Given the description of an element on the screen output the (x, y) to click on. 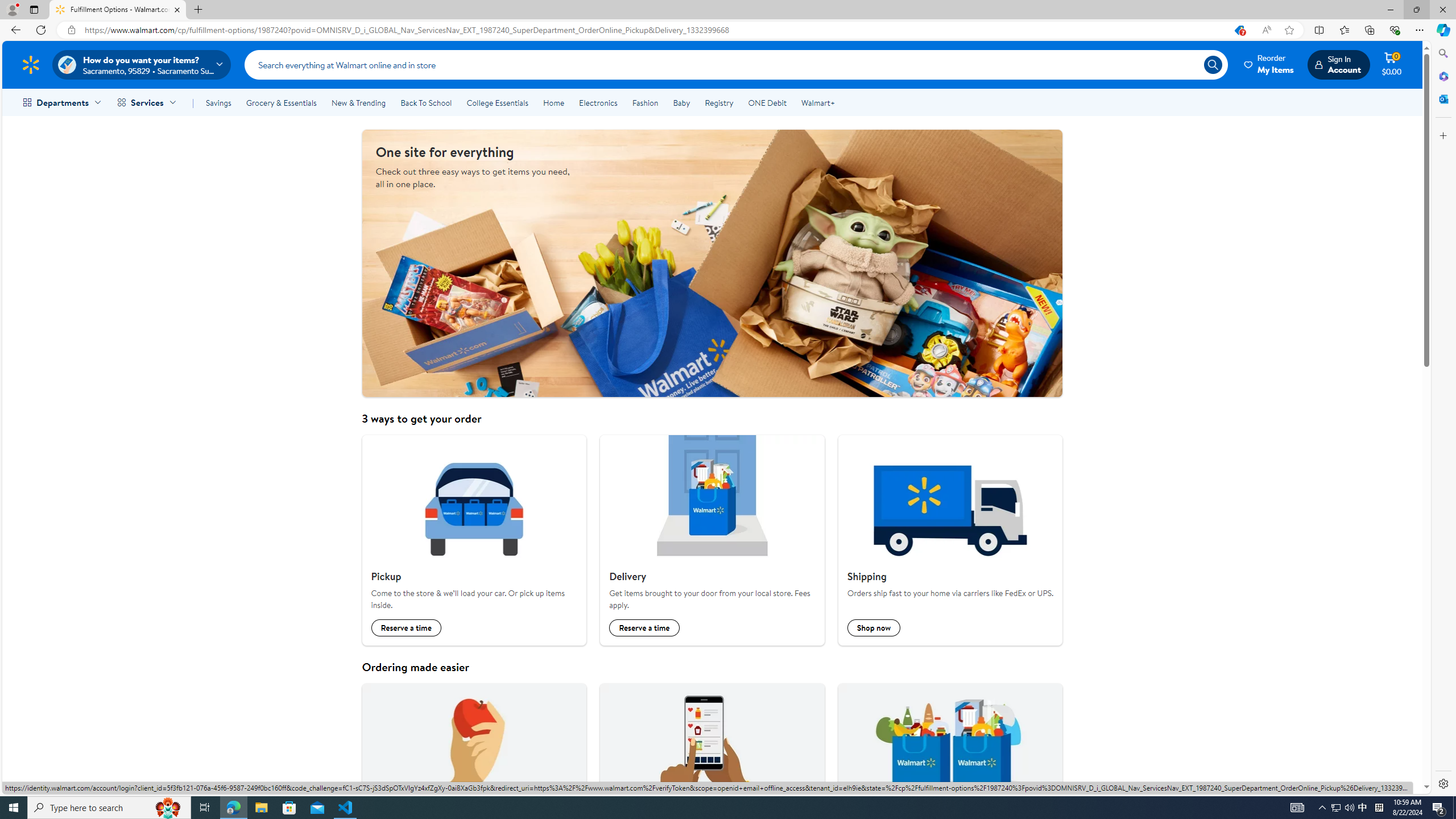
Cart contains 0 items Total Amount $0.00 (1391, 64)
Reorder My Items (1269, 64)
ReorderMy Items (1269, 64)
College Essentials (496, 102)
Baby (681, 102)
Search icon (1212, 64)
